Given the description of an element on the screen output the (x, y) to click on. 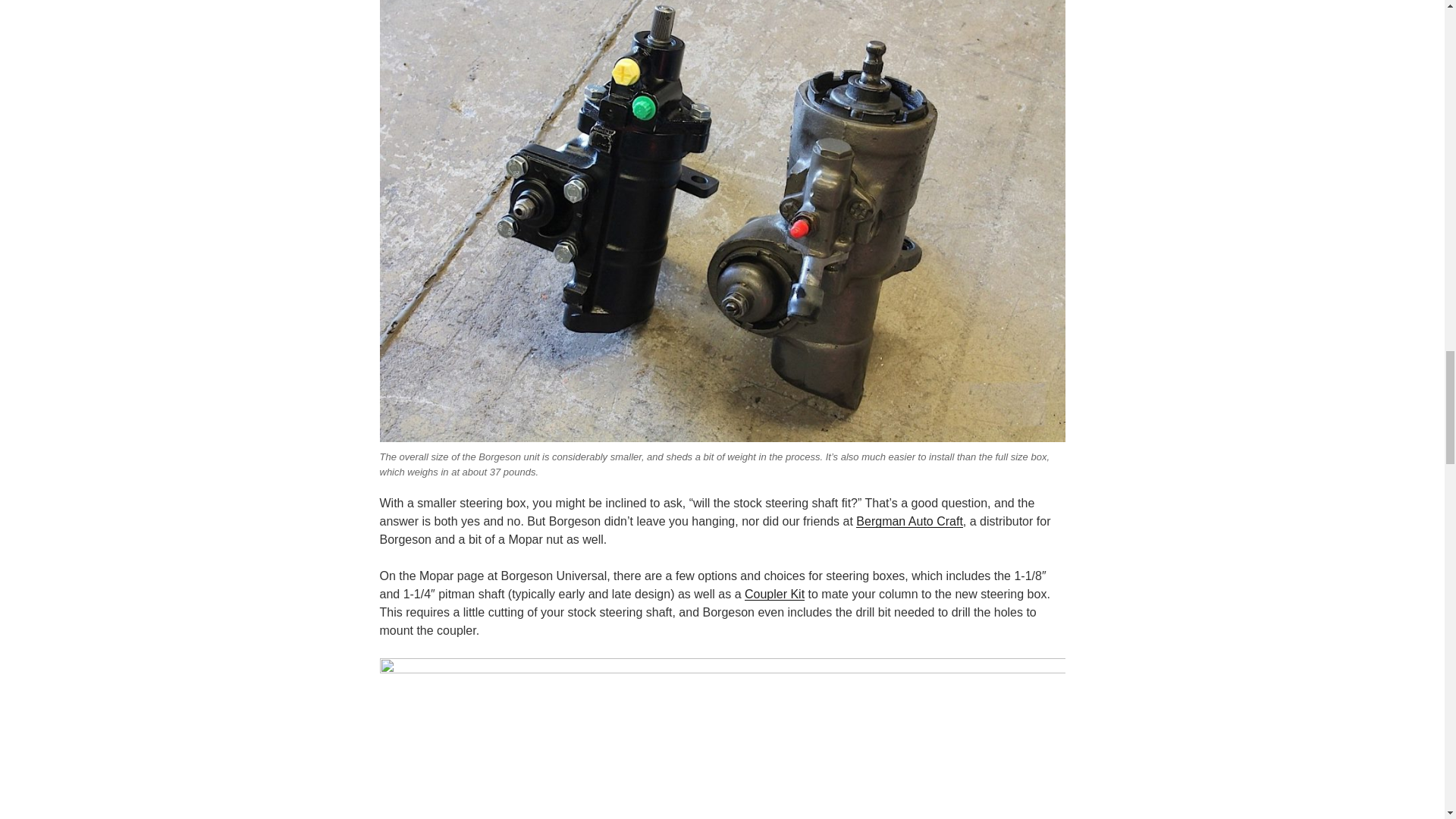
Coupler Kit (774, 594)
Bergman Auto Craft (909, 521)
